Given the description of an element on the screen output the (x, y) to click on. 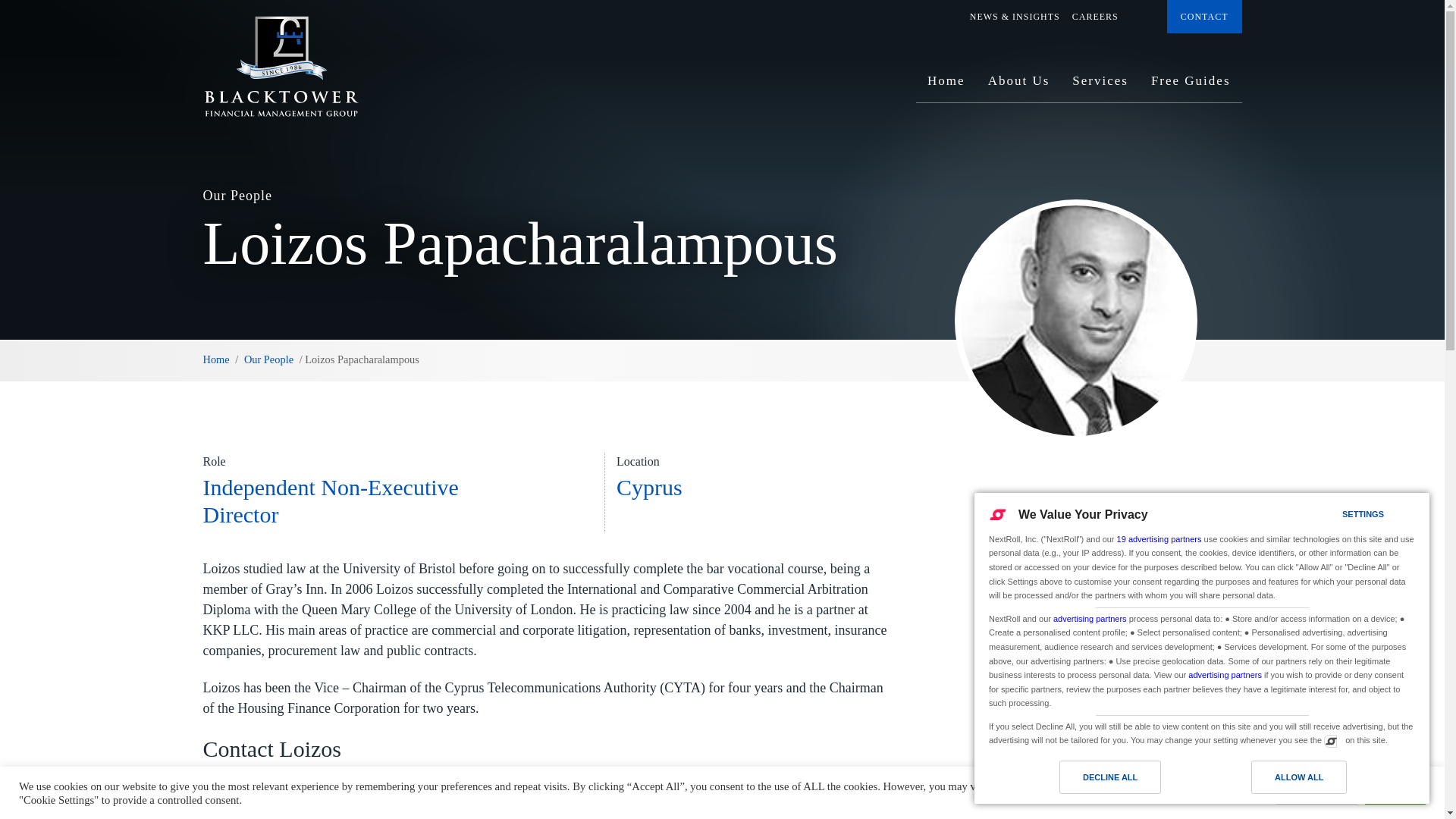
Free Guides (1190, 87)
About Us (1018, 87)
Home (216, 359)
Services (1100, 87)
CONTACT (1204, 16)
Home (945, 87)
Our People (269, 359)
Manage consent preferences (1330, 740)
CAREERS (1094, 16)
